Given the description of an element on the screen output the (x, y) to click on. 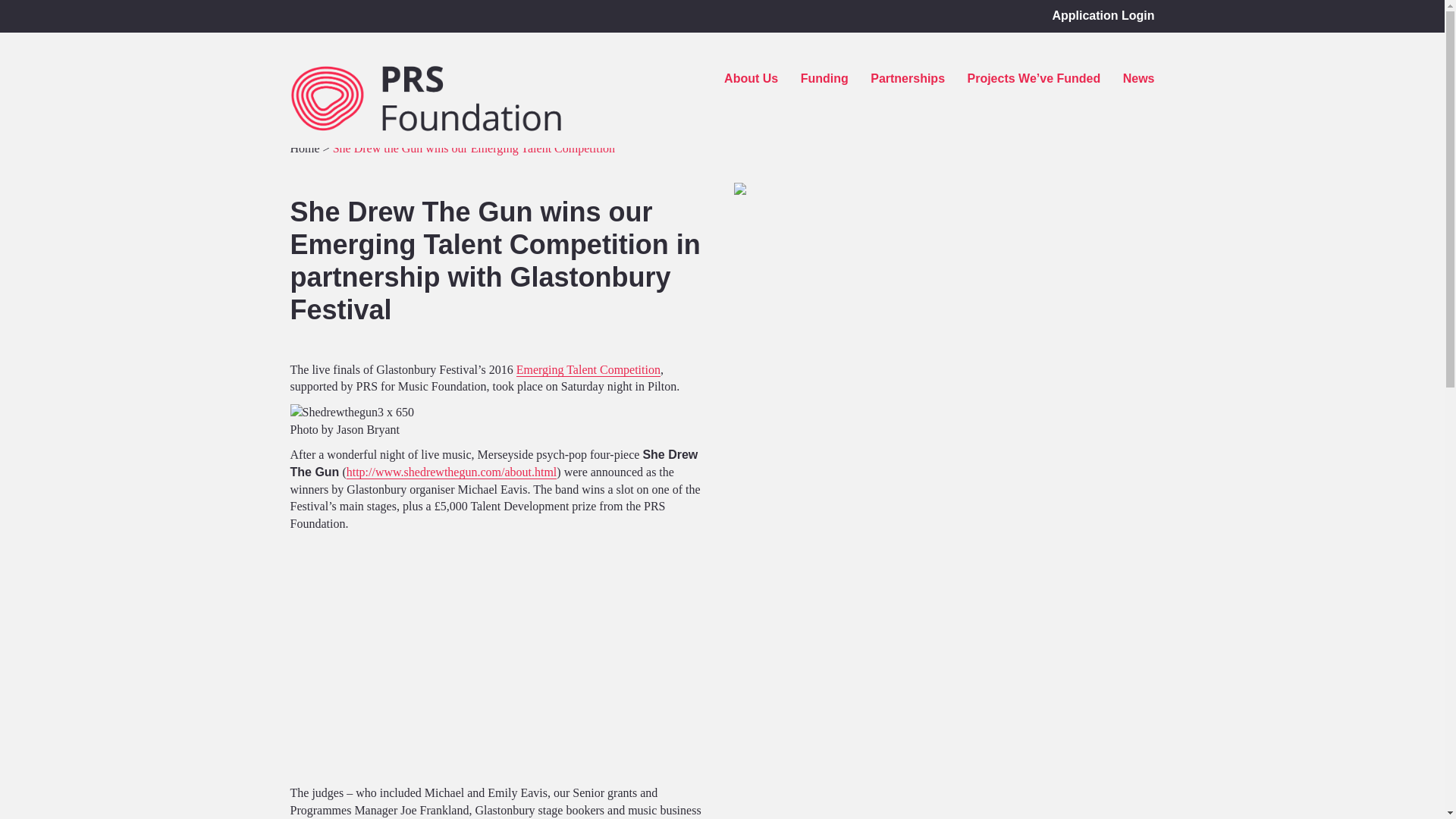
About Us (743, 78)
Partnerships (900, 78)
Application Login (1095, 15)
Funding (817, 78)
